Given the description of an element on the screen output the (x, y) to click on. 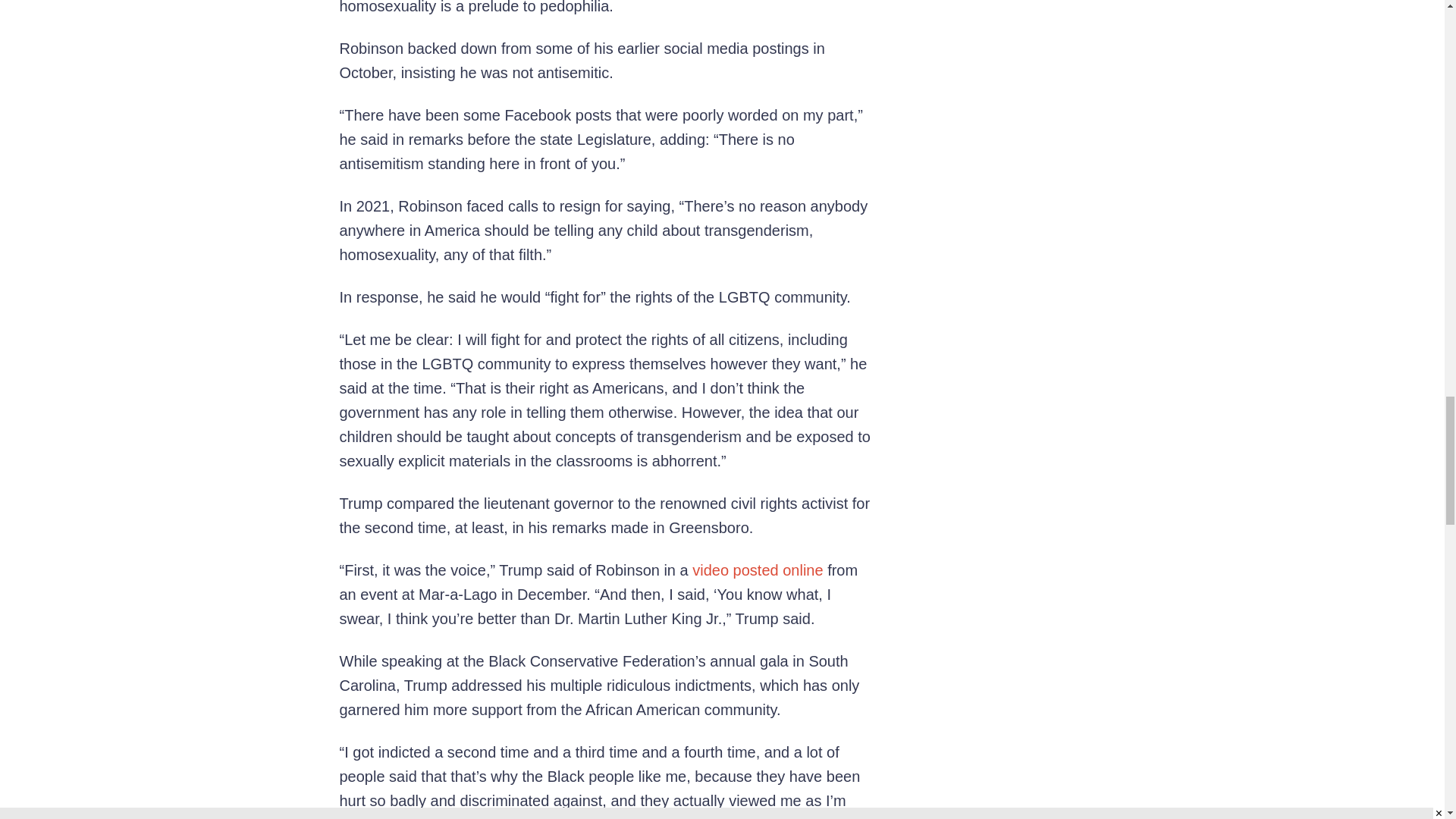
video posted online (757, 569)
